Given the description of an element on the screen output the (x, y) to click on. 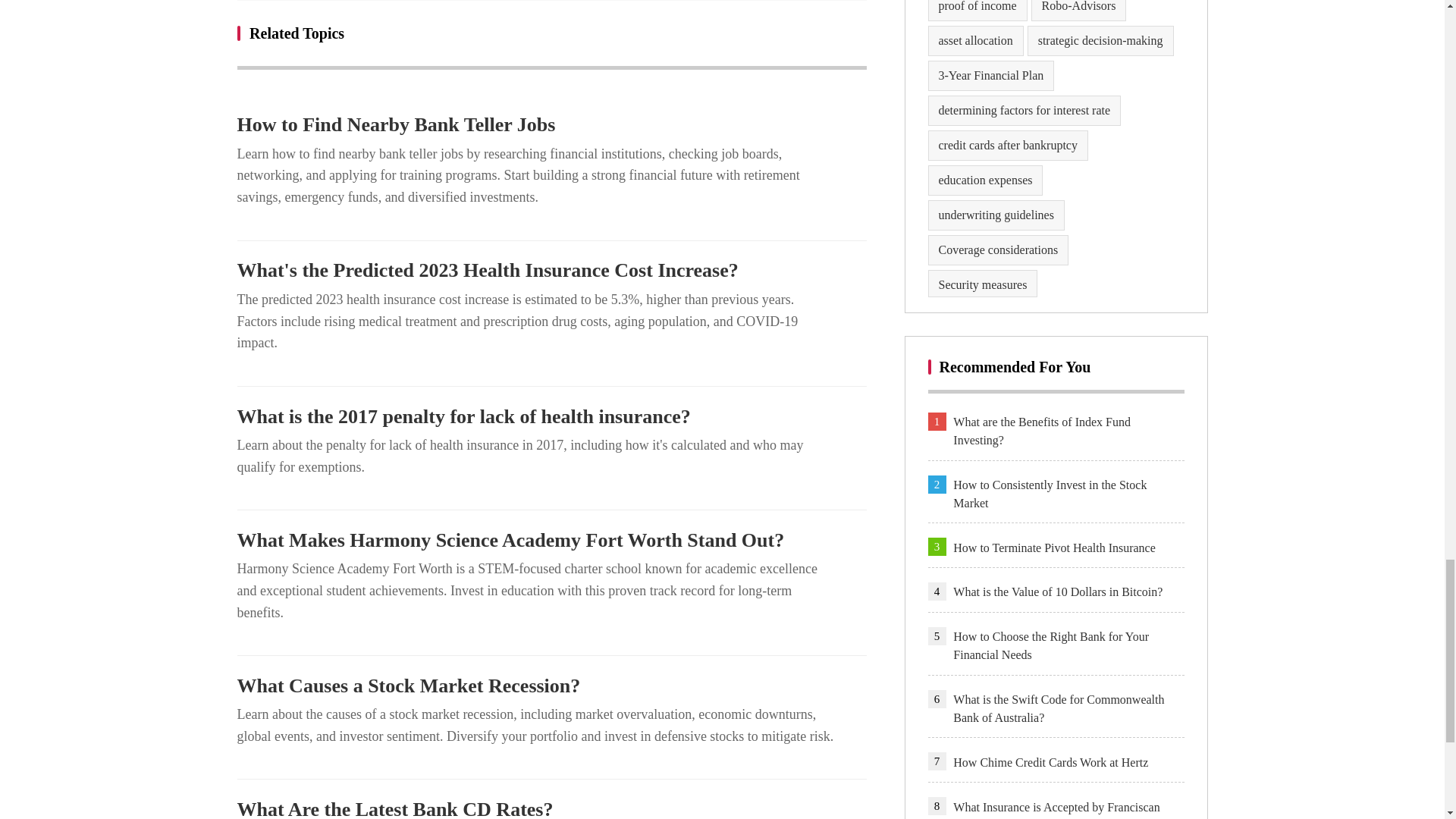
How to Find Nearby Bank Teller Jobs (550, 124)
What is the 2017 penalty for lack of health insurance? (550, 416)
What is the 2017 penalty for lack of health insurance? (550, 416)
What Makes Harmony Science Academy Fort Worth Stand Out? (550, 540)
What's the Predicted 2023 Health Insurance Cost Increase? (550, 270)
What Makes Harmony Science Academy Fort Worth Stand Out? (550, 540)
How to Find Nearby Bank Teller Jobs (550, 124)
What Are the Latest Bank CD Rates? (550, 808)
What Causes a Stock Market Recession? (550, 685)
What's the Predicted 2023 Health Insurance Cost Increase? (550, 270)
